Given the description of an element on the screen output the (x, y) to click on. 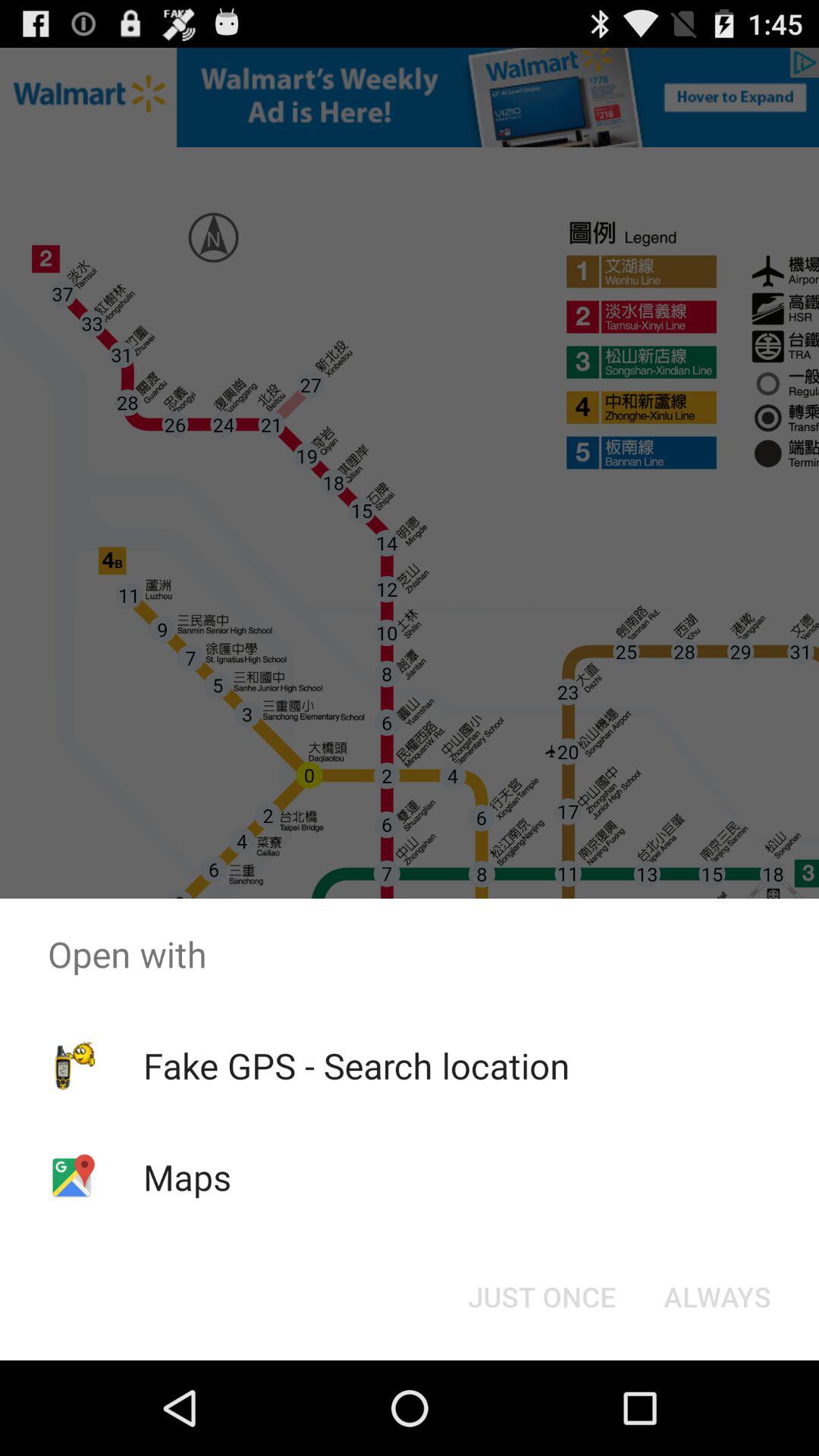
tap maps (187, 1176)
